Given the description of an element on the screen output the (x, y) to click on. 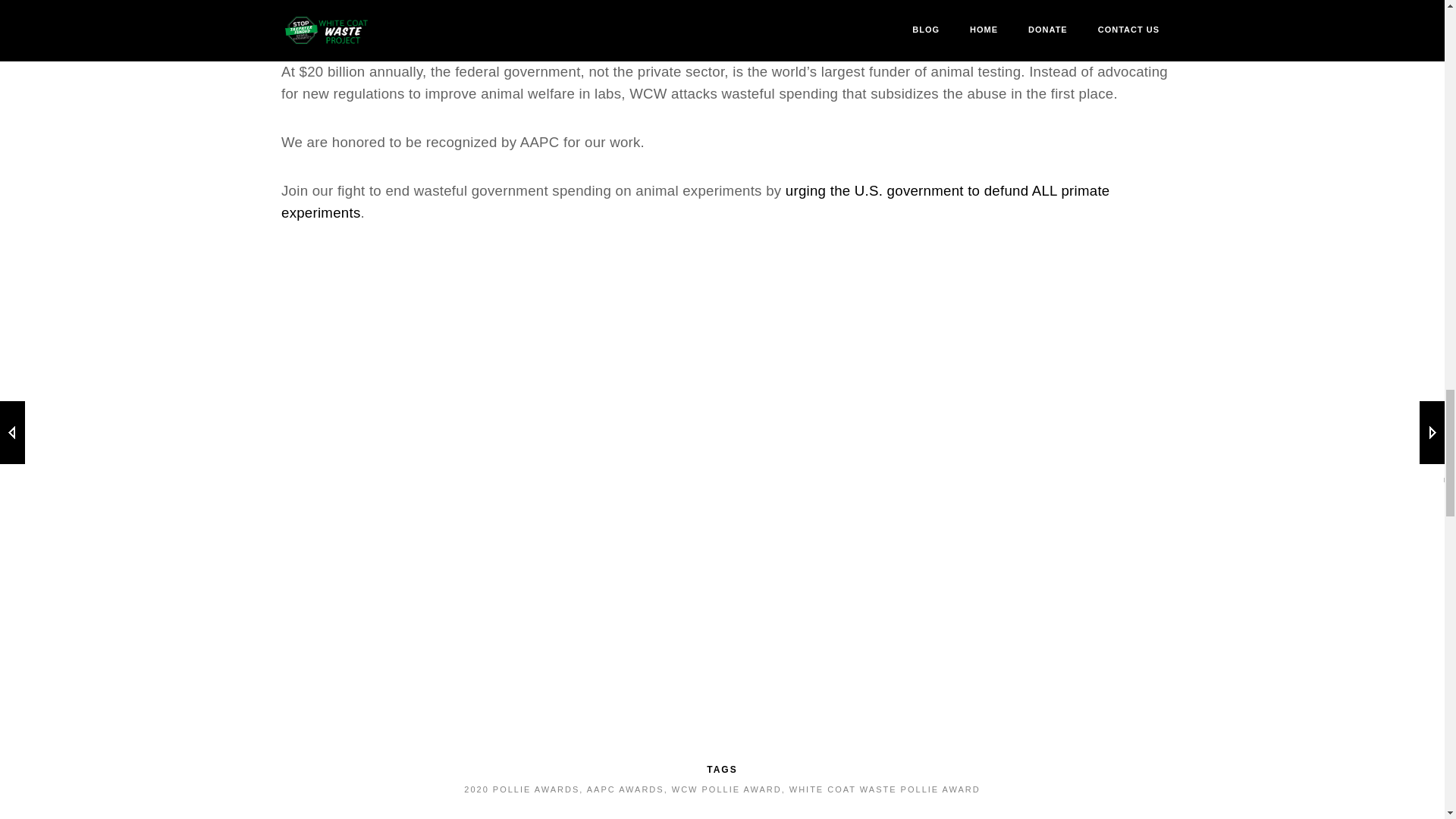
urging the U.S. government to defund ALL primate experiments (695, 201)
AAPC AWARDS (624, 788)
WCW POLLIE AWARD (726, 788)
WHITE COAT WASTE POLLIE AWARD (884, 788)
2020 POLLIE AWARDS (521, 788)
